Given the description of an element on the screen output the (x, y) to click on. 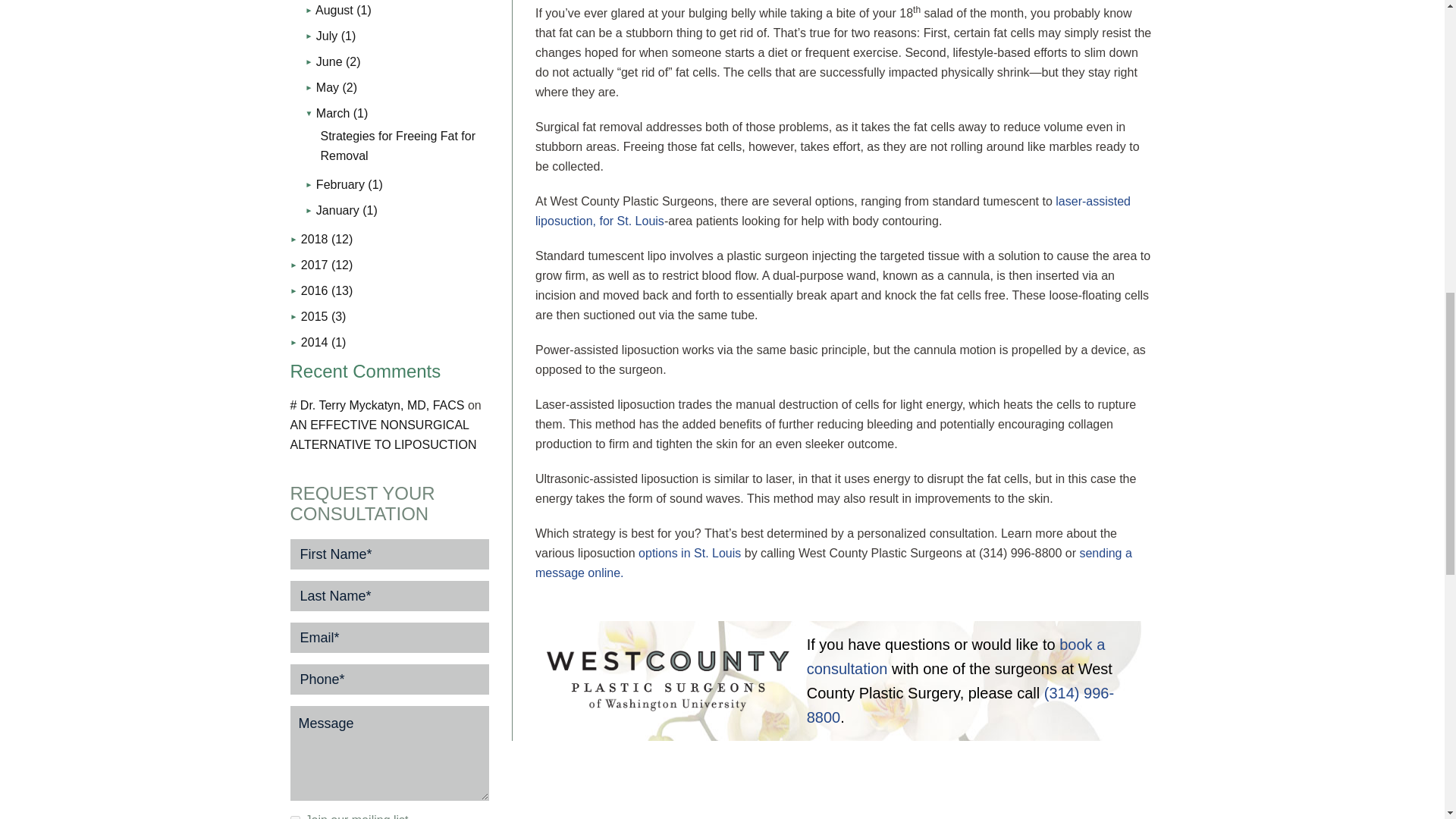
on (294, 817)
